Given the description of an element on the screen output the (x, y) to click on. 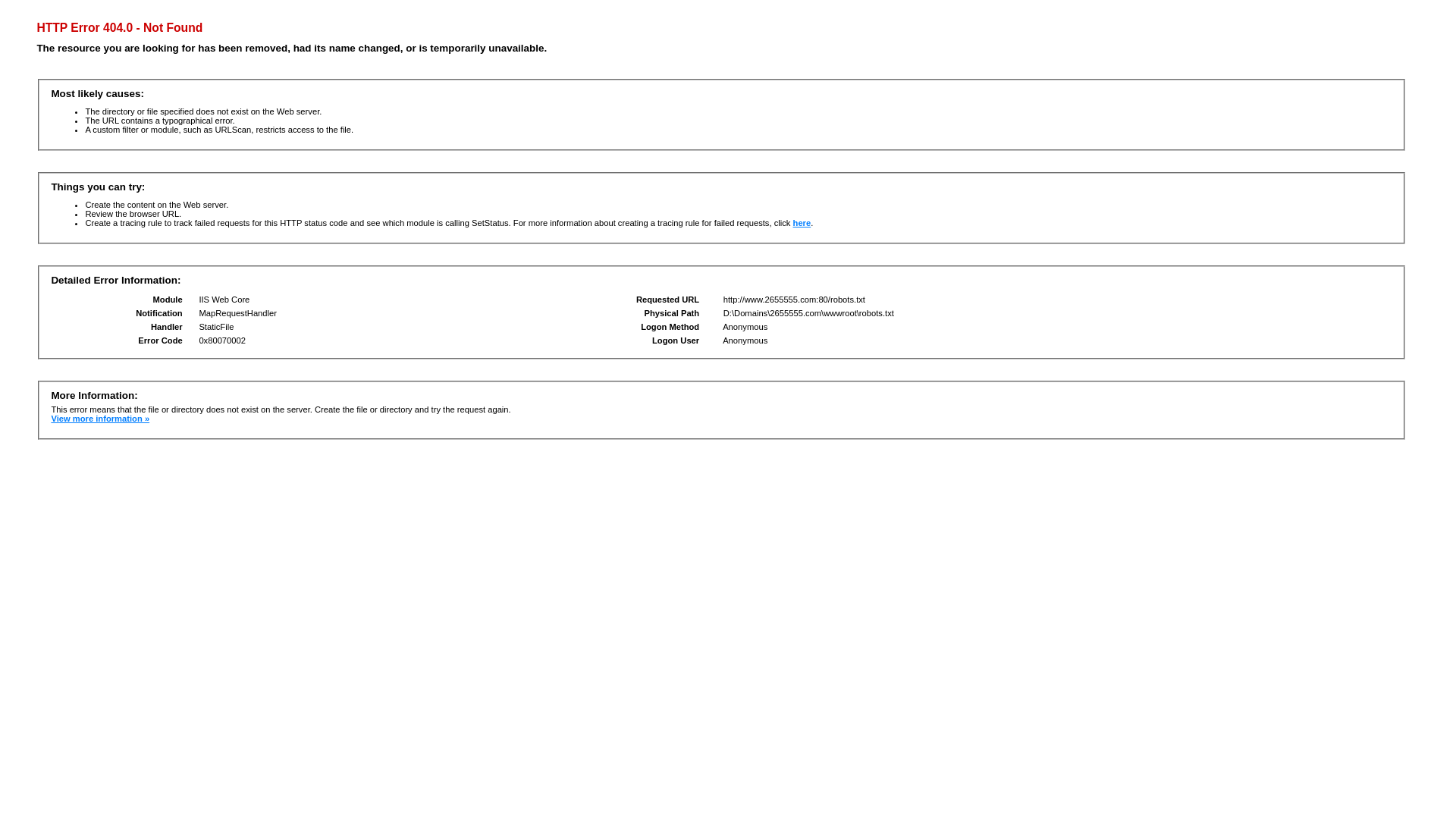
here Element type: text (802, 222)
